Given the description of an element on the screen output the (x, y) to click on. 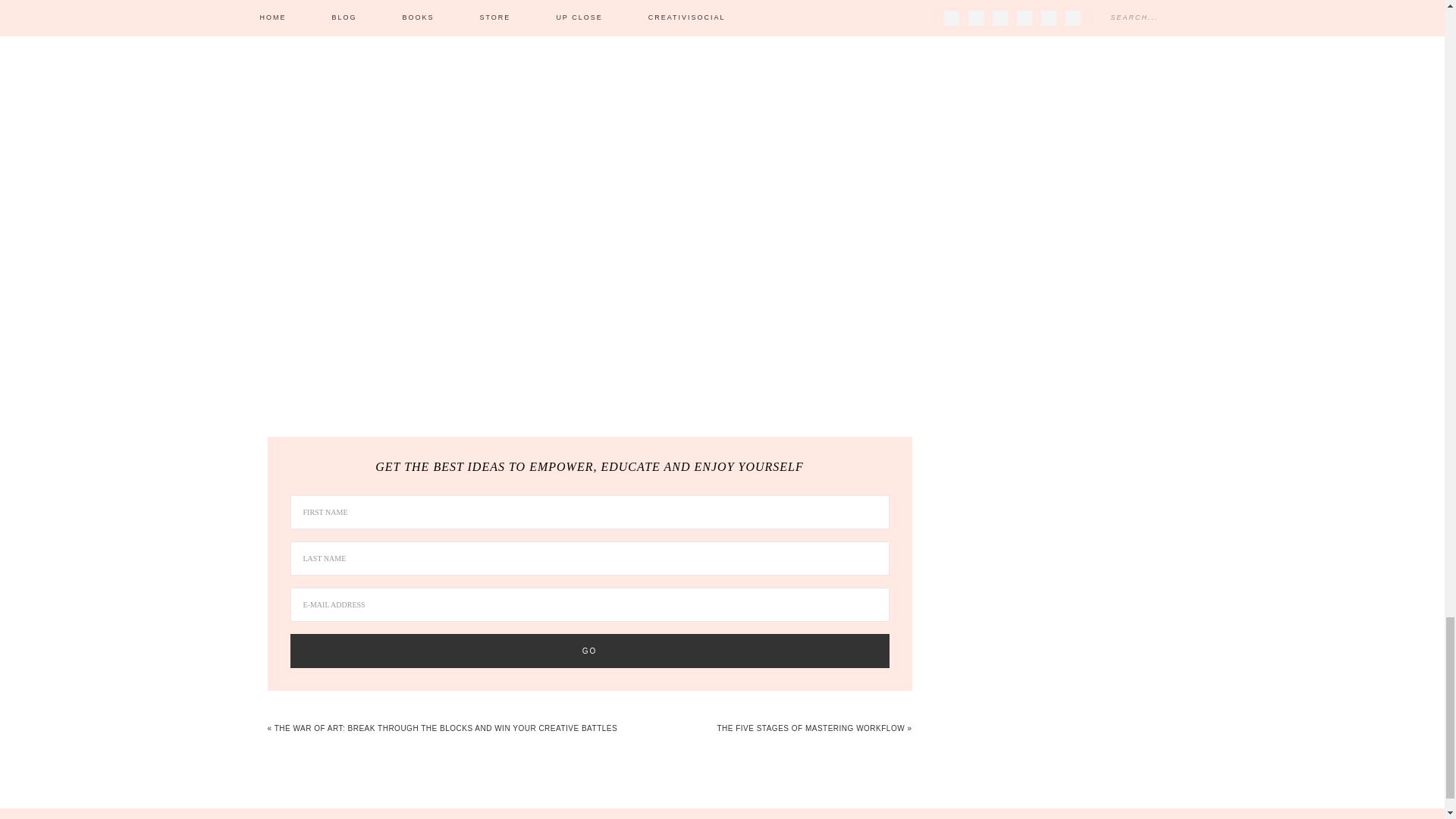
Go (588, 650)
